Given the description of an element on the screen output the (x, y) to click on. 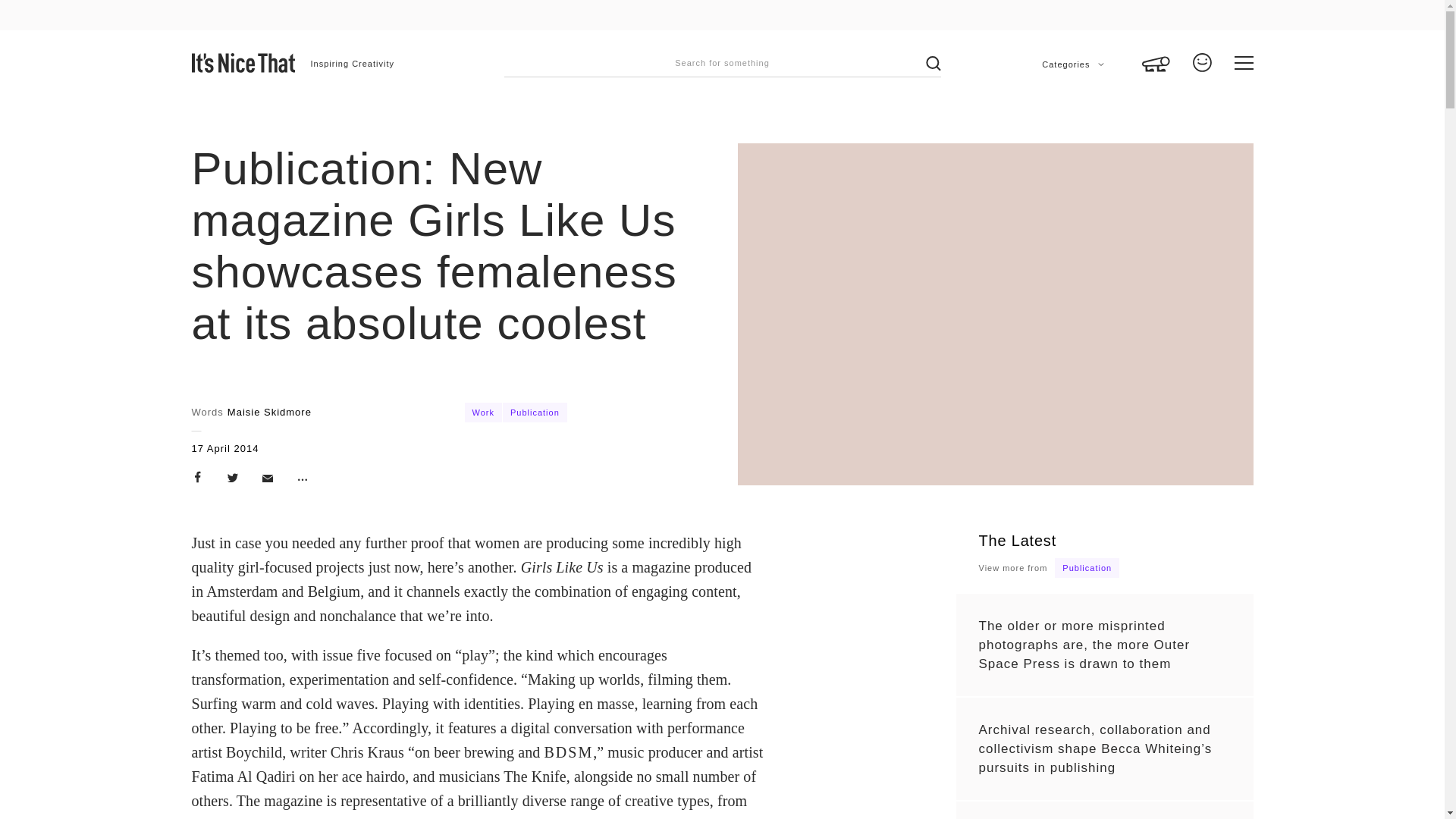
Menu (1243, 63)
Categories (1072, 63)
Extra Search Tool (1155, 53)
Extra Nice account (1201, 66)
Your account (1201, 66)
Home (242, 62)
Extra Search Tool (1155, 53)
Inspiring Creativity (352, 64)
